Given the description of an element on the screen output the (x, y) to click on. 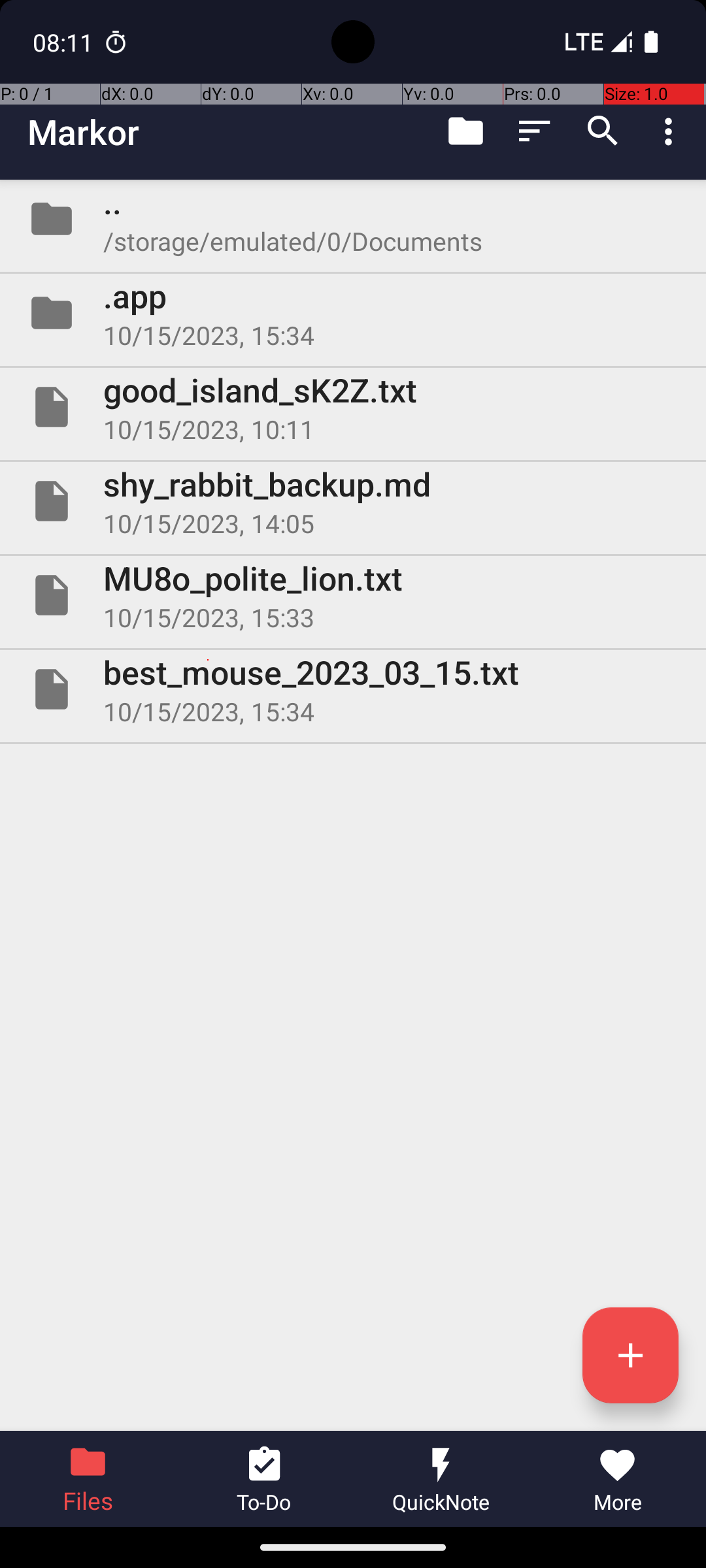
Folder .app  Element type: android.widget.LinearLayout (353, 312)
File good_island_sK2Z.txt  Element type: android.widget.LinearLayout (353, 406)
File shy_rabbit_backup.md  Element type: android.widget.LinearLayout (353, 500)
File MU8o_polite_lion.txt  Element type: android.widget.LinearLayout (353, 594)
File best_mouse_2023_03_15.txt  Element type: android.widget.LinearLayout (353, 689)
08:11 Element type: android.widget.TextView (64, 41)
